Given the description of an element on the screen output the (x, y) to click on. 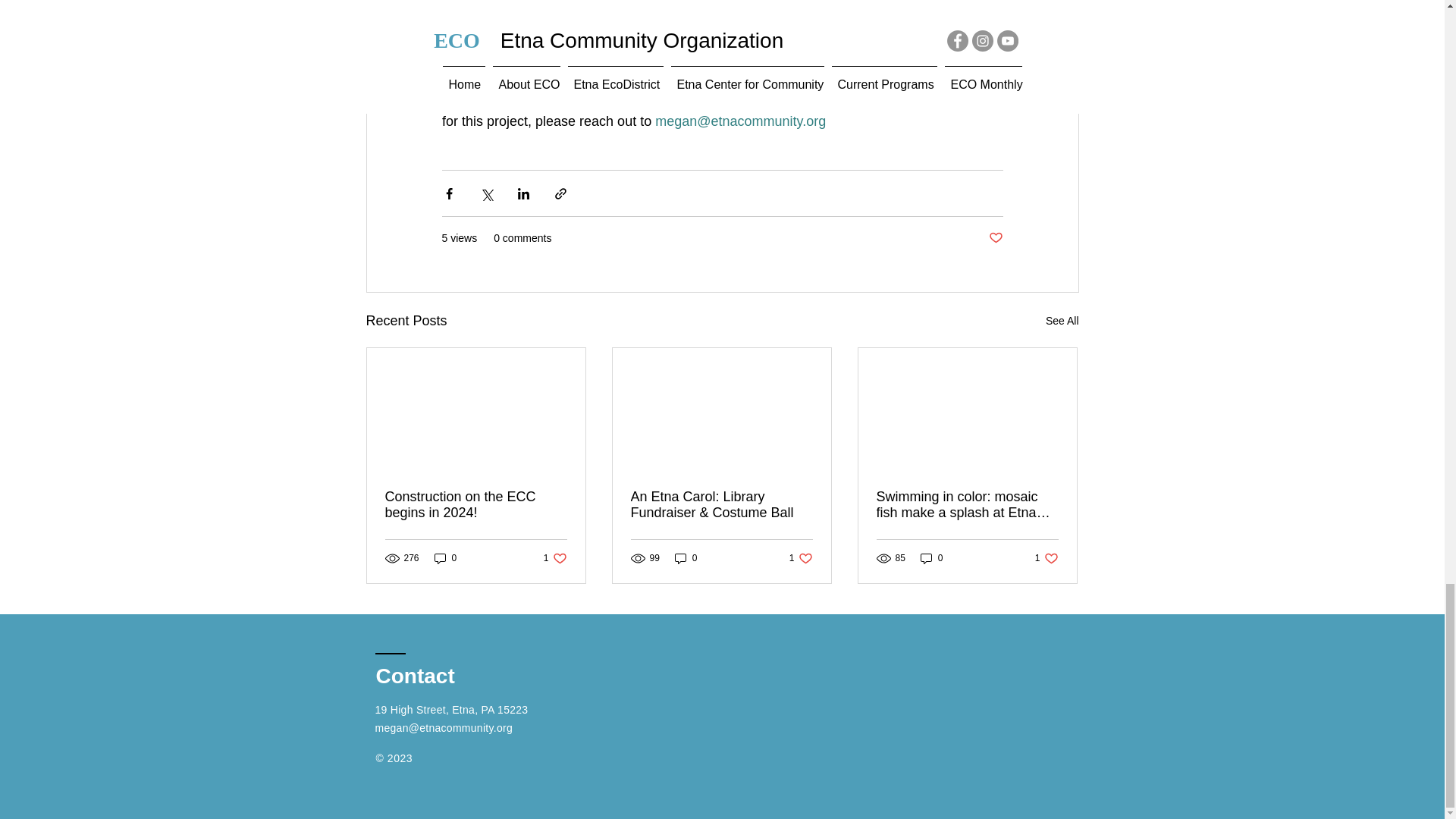
0 (685, 557)
Swimming in color: mosaic fish make a splash at Etna EcoPark (800, 557)
0 (967, 504)
Construction on the ECC begins in 2024! (445, 557)
Post not marked as liked (1046, 557)
See All (555, 557)
0 (476, 504)
